Given the description of an element on the screen output the (x, y) to click on. 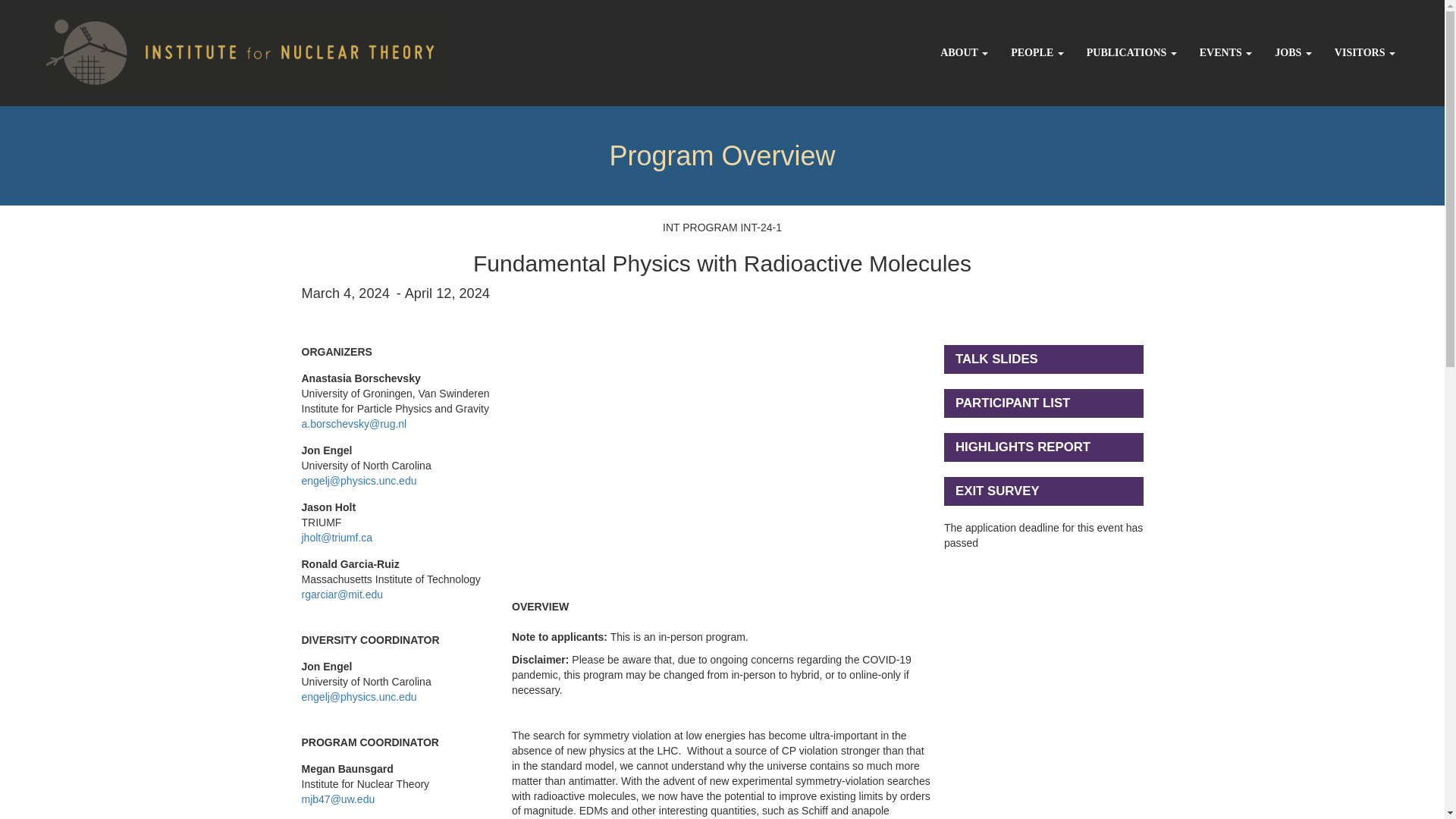
PEOPLE (1036, 53)
ABOUT (963, 53)
EVENTS (1225, 53)
PUBLICATIONS (1131, 53)
Home (224, 49)
JOBS (1293, 53)
